Given the description of an element on the screen output the (x, y) to click on. 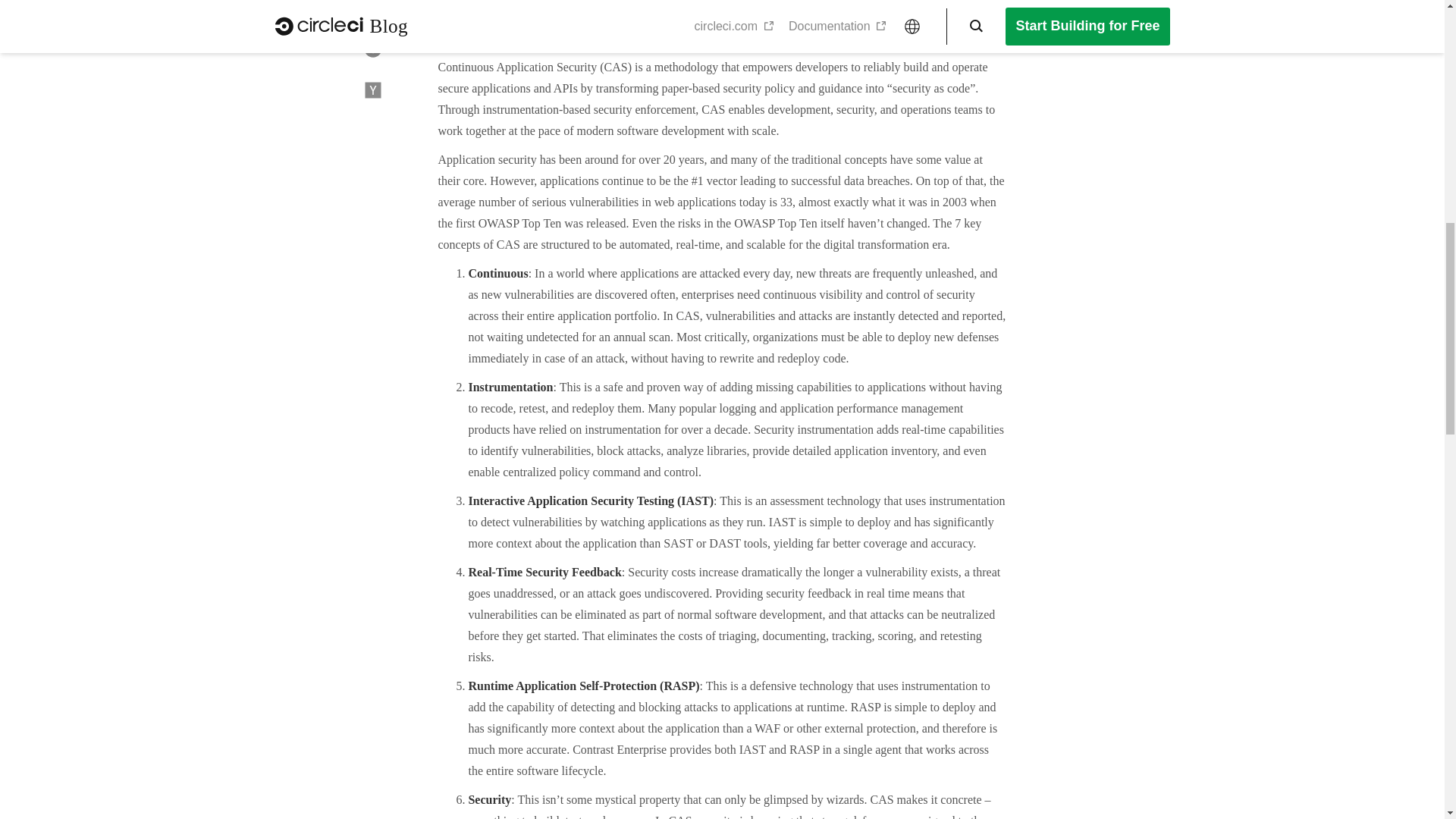
Share on Hacker News (373, 90)
Share on Facebook (373, 8)
Share on Reddit (373, 48)
Share on Facebook (373, 8)
Share on Reddit (373, 48)
